Given the description of an element on the screen output the (x, y) to click on. 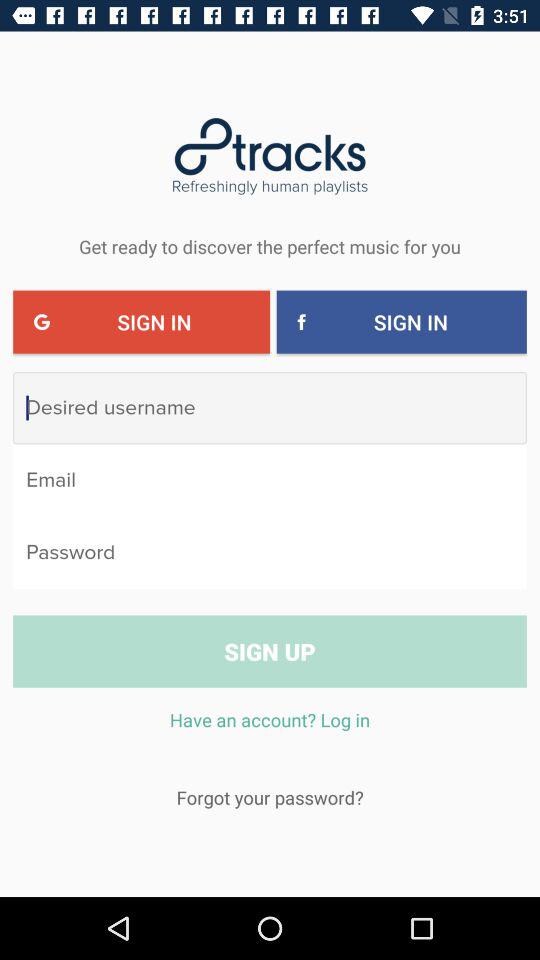
type your email (269, 480)
